Given the description of an element on the screen output the (x, y) to click on. 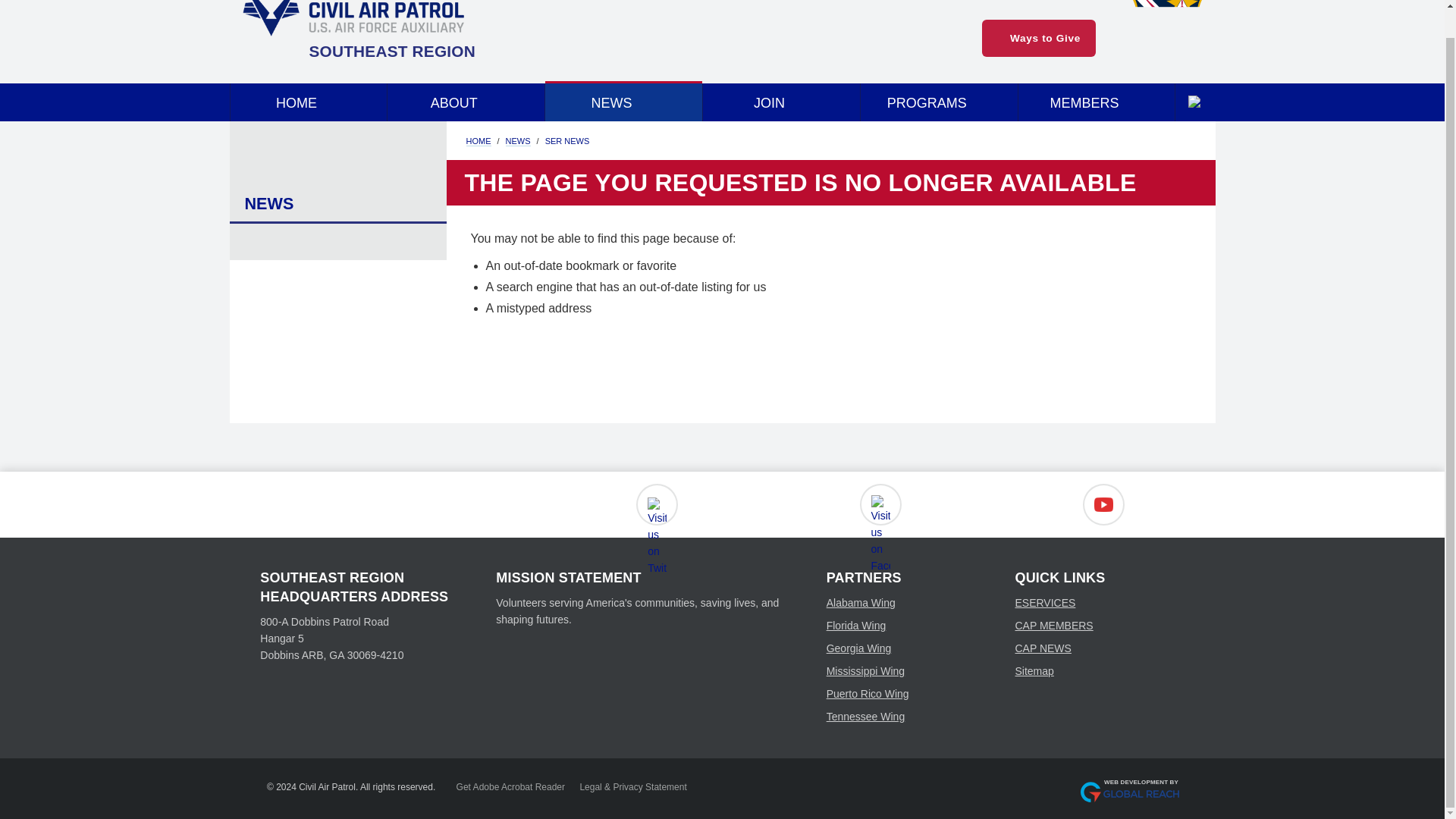
Ways to Give (1038, 38)
MEMBERS (1095, 102)
PROGRAMS (938, 102)
HOME (308, 102)
JOIN (781, 102)
ABOUT (465, 102)
NEWS (622, 102)
